Given the description of an element on the screen output the (x, y) to click on. 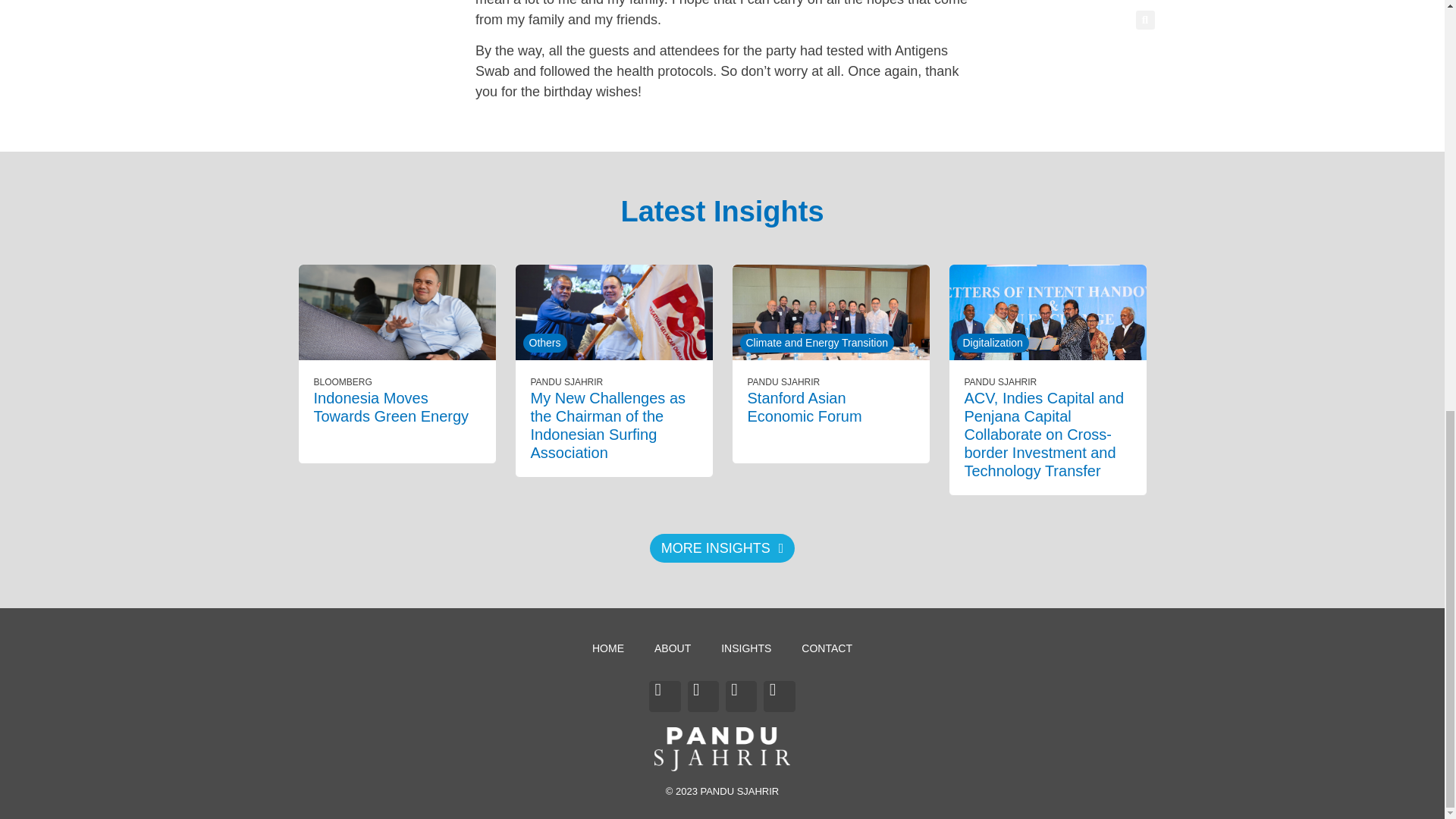
Digitalization (992, 342)
MORE INSIGHTS (721, 547)
Latest Insights (722, 211)
Stanford Asian Economic Forum (804, 407)
Indonesia Moves Towards Green Energy (391, 407)
HOME (607, 647)
CONTACT (826, 647)
Others (544, 342)
ABOUT (672, 647)
INSIGHTS (746, 647)
Climate and Energy Transition (816, 342)
